Given the description of an element on the screen output the (x, y) to click on. 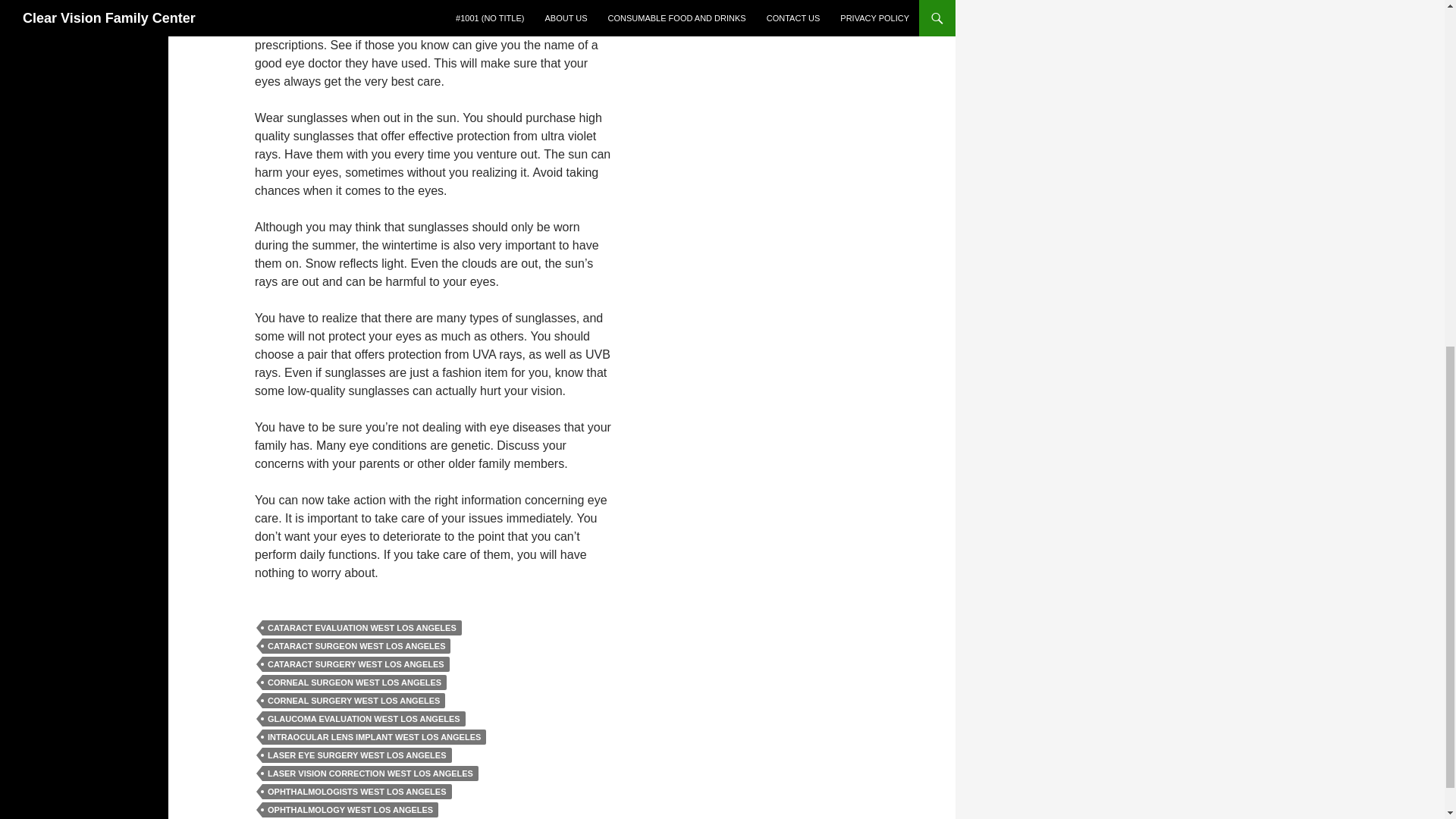
CATARACT SURGERY WEST LOS ANGELES (355, 663)
LASER VISION CORRECTION WEST LOS ANGELES (370, 773)
LASER EYE SURGERY WEST LOS ANGELES (356, 754)
CORNEAL SURGEON WEST LOS ANGELES (354, 682)
CORNEAL SURGERY WEST LOS ANGELES (353, 700)
OPHTHALMOLOGISTS WEST LOS ANGELES (356, 791)
OPHTHALMOLOGY WEST LOS ANGELES (350, 809)
INTRAOCULAR LENS IMPLANT WEST LOS ANGELES (374, 736)
GLAUCOMA EVALUATION WEST LOS ANGELES (363, 718)
CATARACT SURGEON WEST LOS ANGELES (355, 645)
